Given the description of an element on the screen output the (x, y) to click on. 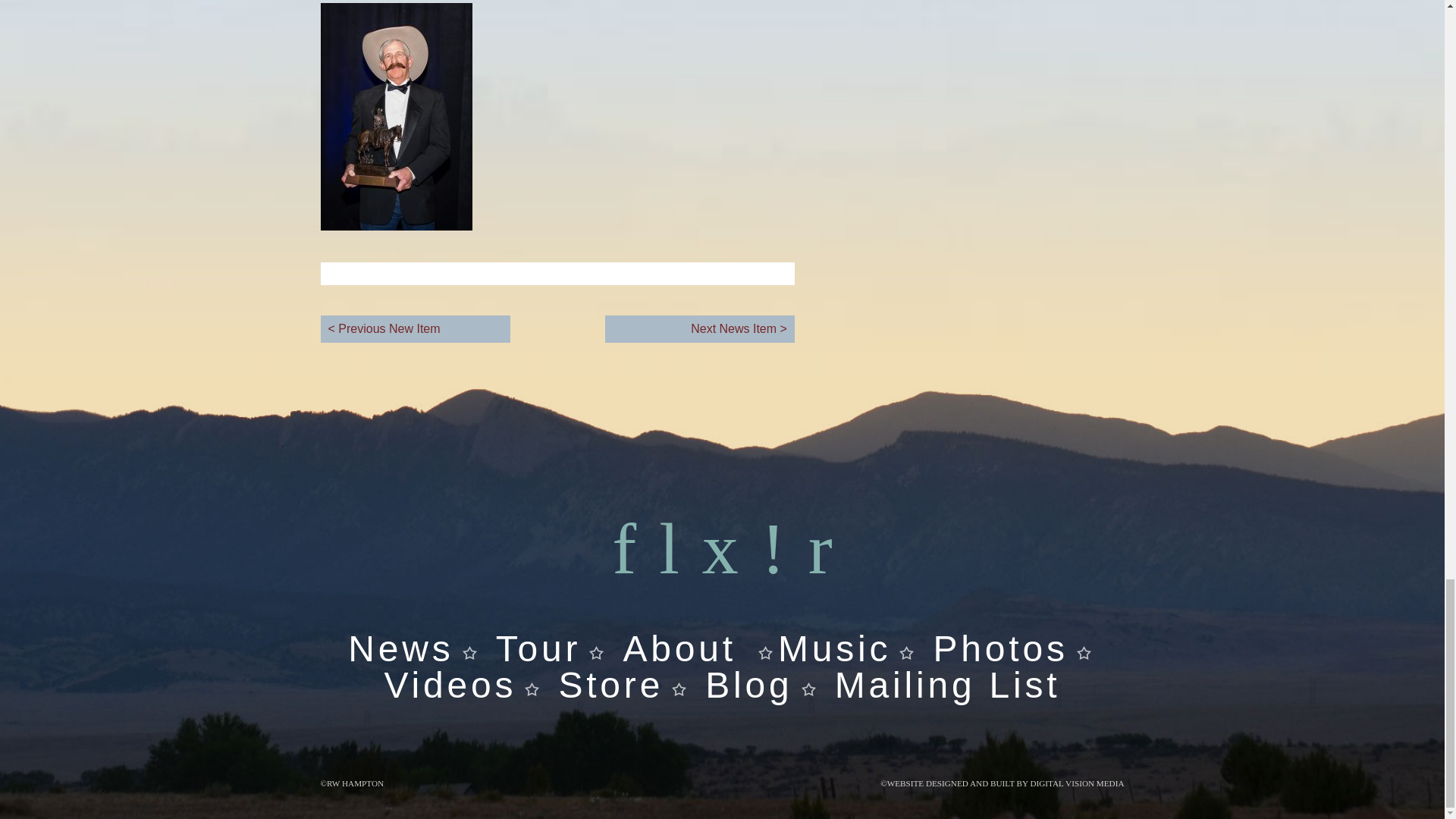
Tour (538, 648)
About (679, 648)
Music (834, 648)
Photos (1000, 648)
Videos (740, 703)
News (399, 648)
